Given the description of an element on the screen output the (x, y) to click on. 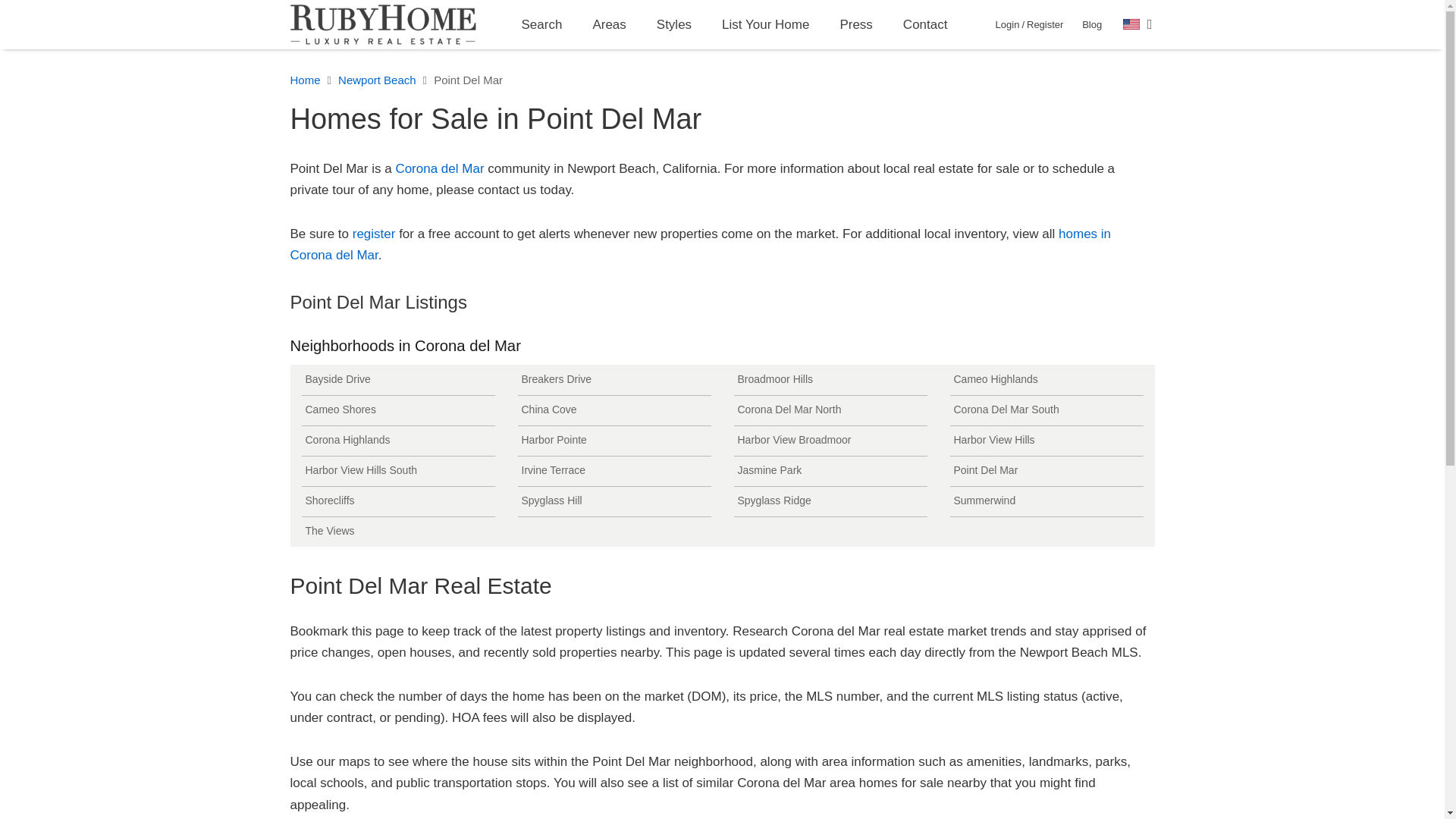
Search (542, 24)
Corona del Mar (438, 168)
View Cameo Shores (398, 409)
Blog (1091, 24)
View Bayside Drive (398, 379)
Press (855, 24)
Select Language (1137, 24)
Styles (674, 24)
homes in Corona del Mar (699, 244)
View Breakers Drive (613, 379)
